Given the description of an element on the screen output the (x, y) to click on. 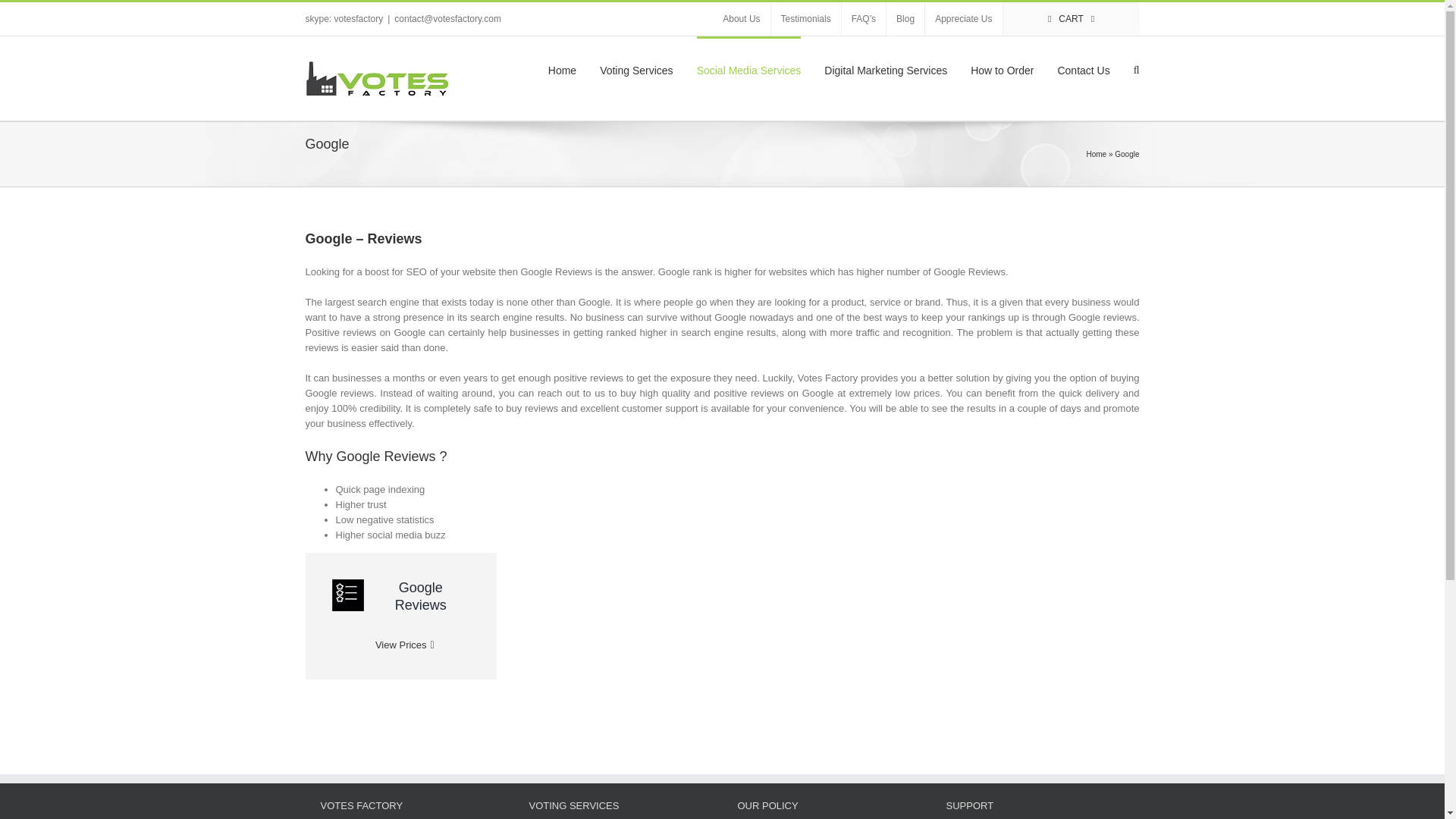
CART (1071, 19)
Voting Services (635, 68)
Social Media Services (749, 68)
Blog (962, 19)
Testimonials (905, 19)
About Us (806, 19)
